Given the description of an element on the screen output the (x, y) to click on. 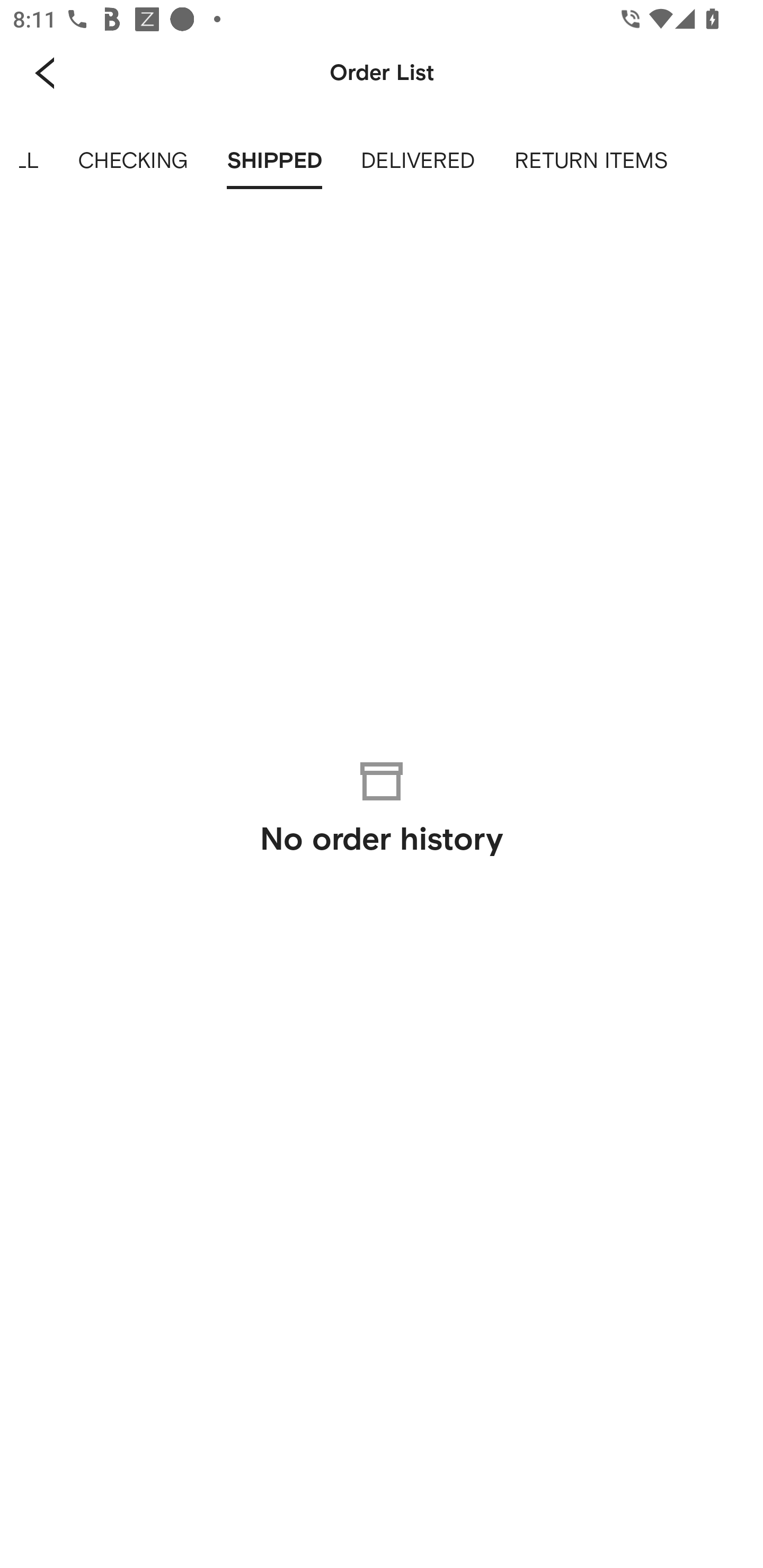
ALL (29, 161)
CHECKING (132, 161)
DELIVERED (418, 161)
RETURN ITEMS (590, 161)
